Given the description of an element on the screen output the (x, y) to click on. 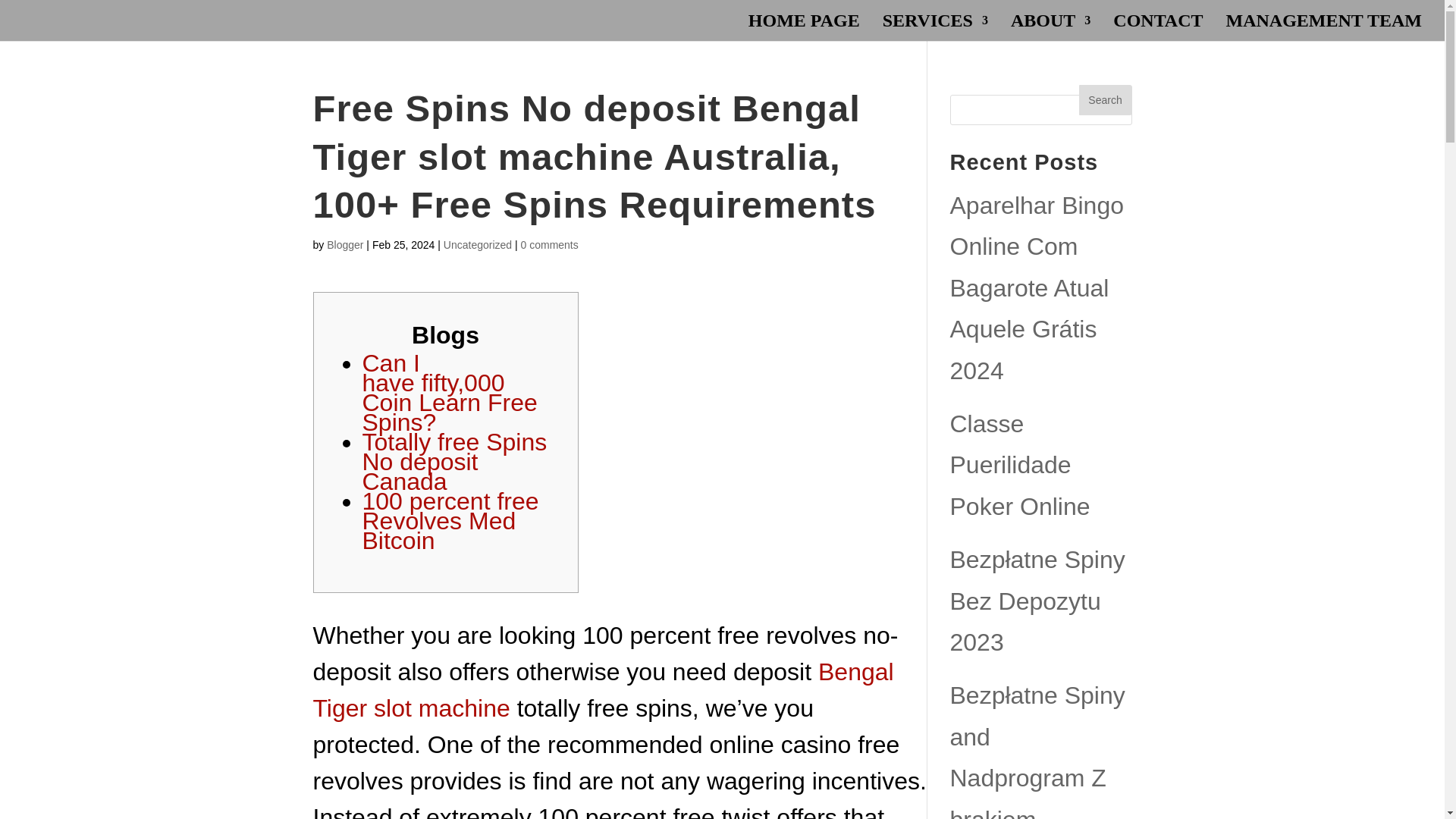
Search (1104, 100)
100 percent free Revolves Med Bitcoin (450, 520)
0 comments (549, 244)
CONTACT (1157, 27)
Posts by Blogger (344, 244)
Uncategorized (478, 244)
Search (1104, 100)
MANAGEMENT TEAM (1323, 27)
SERVICES (935, 27)
HOME PAGE (804, 27)
Totally free Spins No deposit Canada (454, 461)
ABOUT (1050, 27)
Blogger (344, 244)
Can I have fifty,000 Coin Learn Free Spins? (449, 392)
Bengal Tiger slot machine (603, 689)
